Given the description of an element on the screen output the (x, y) to click on. 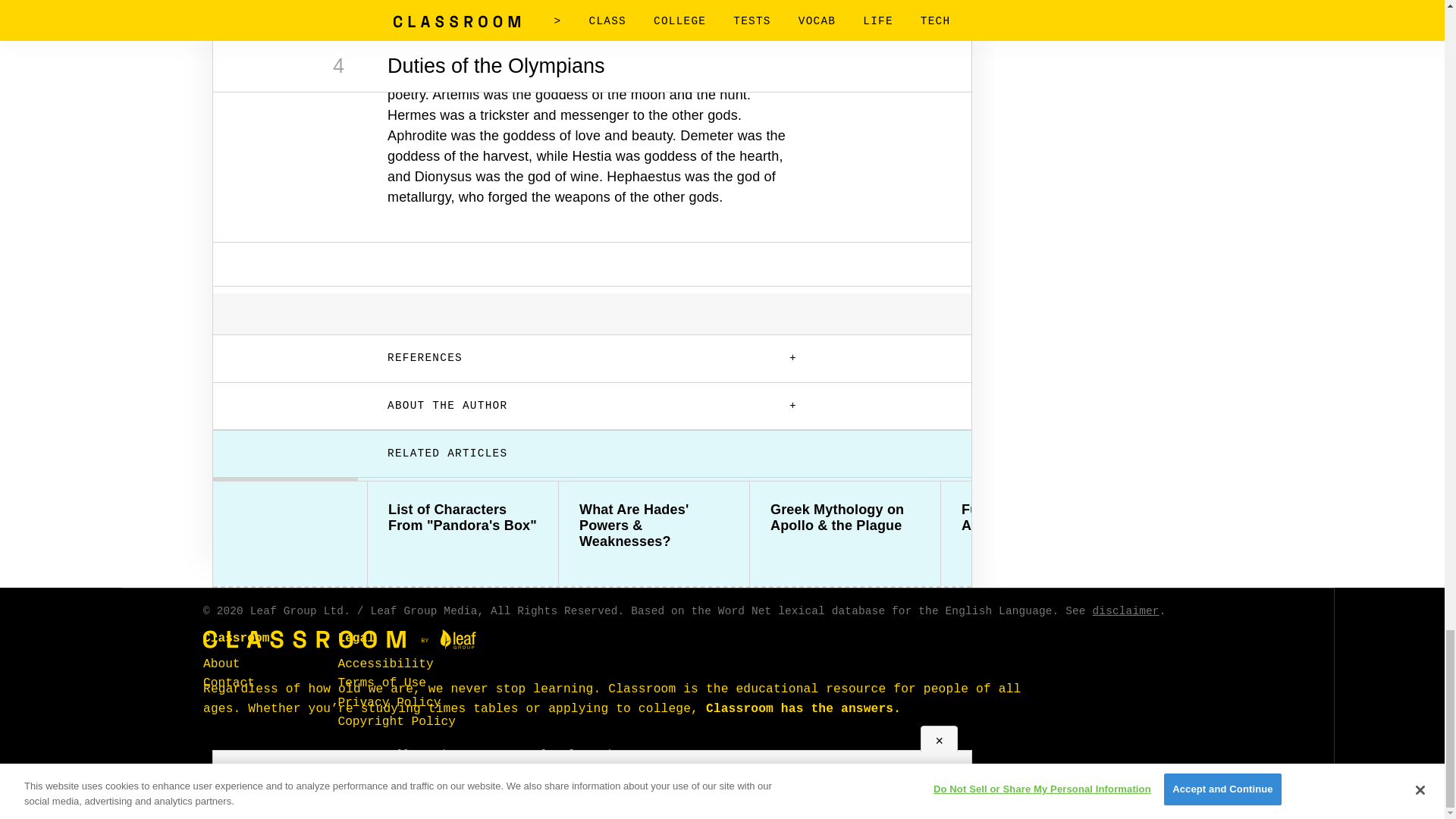
Powers of Arion in Greek Mythology (1227, 517)
Accessibility (384, 663)
About (221, 663)
List of Characters From "Pandora's Box" (462, 517)
Contact (228, 683)
Terms of Use (381, 683)
Fun Egyptian Facts About the Pharaohs (1035, 517)
